Given the description of an element on the screen output the (x, y) to click on. 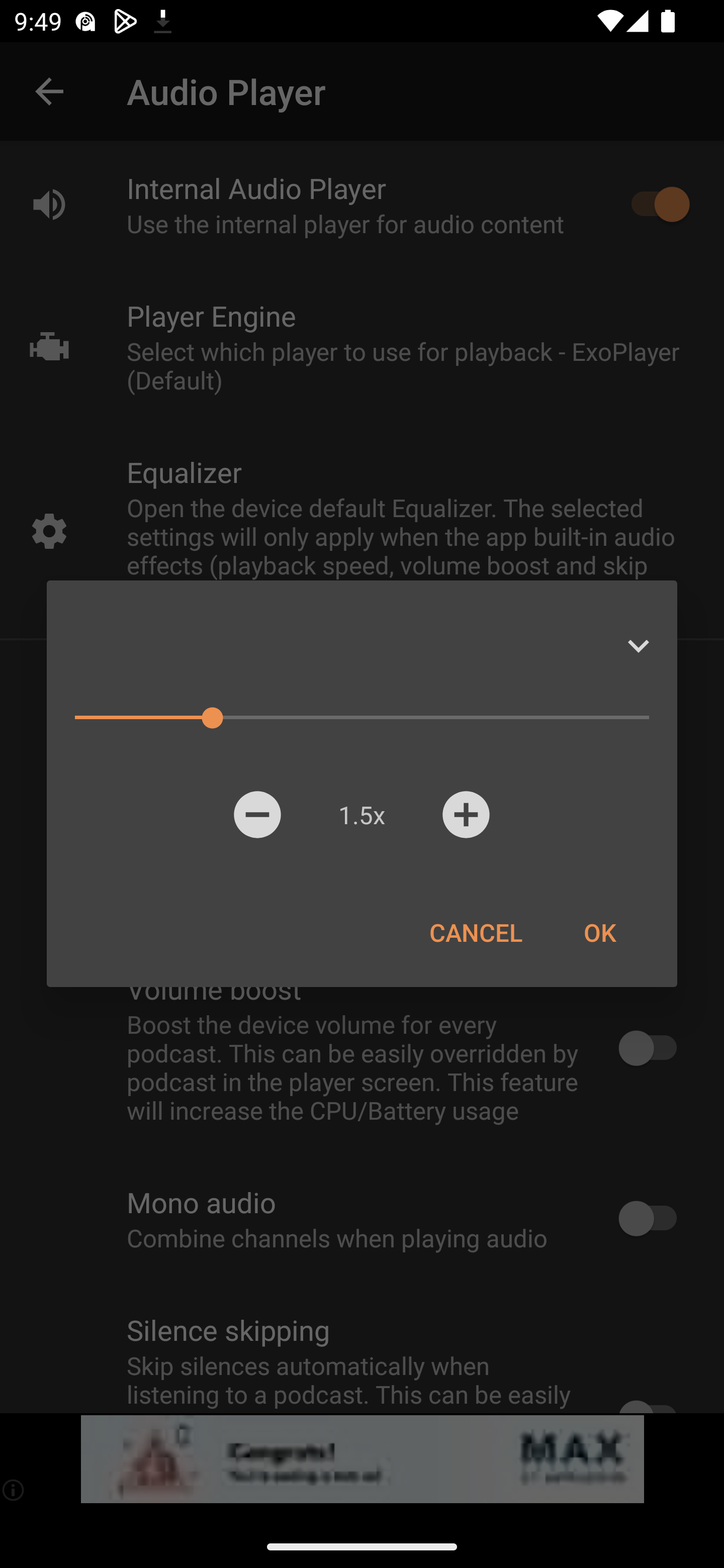
Expand (637, 645)
1.5x (361, 814)
CANCEL (475, 932)
OK (599, 932)
